Given the description of an element on the screen output the (x, y) to click on. 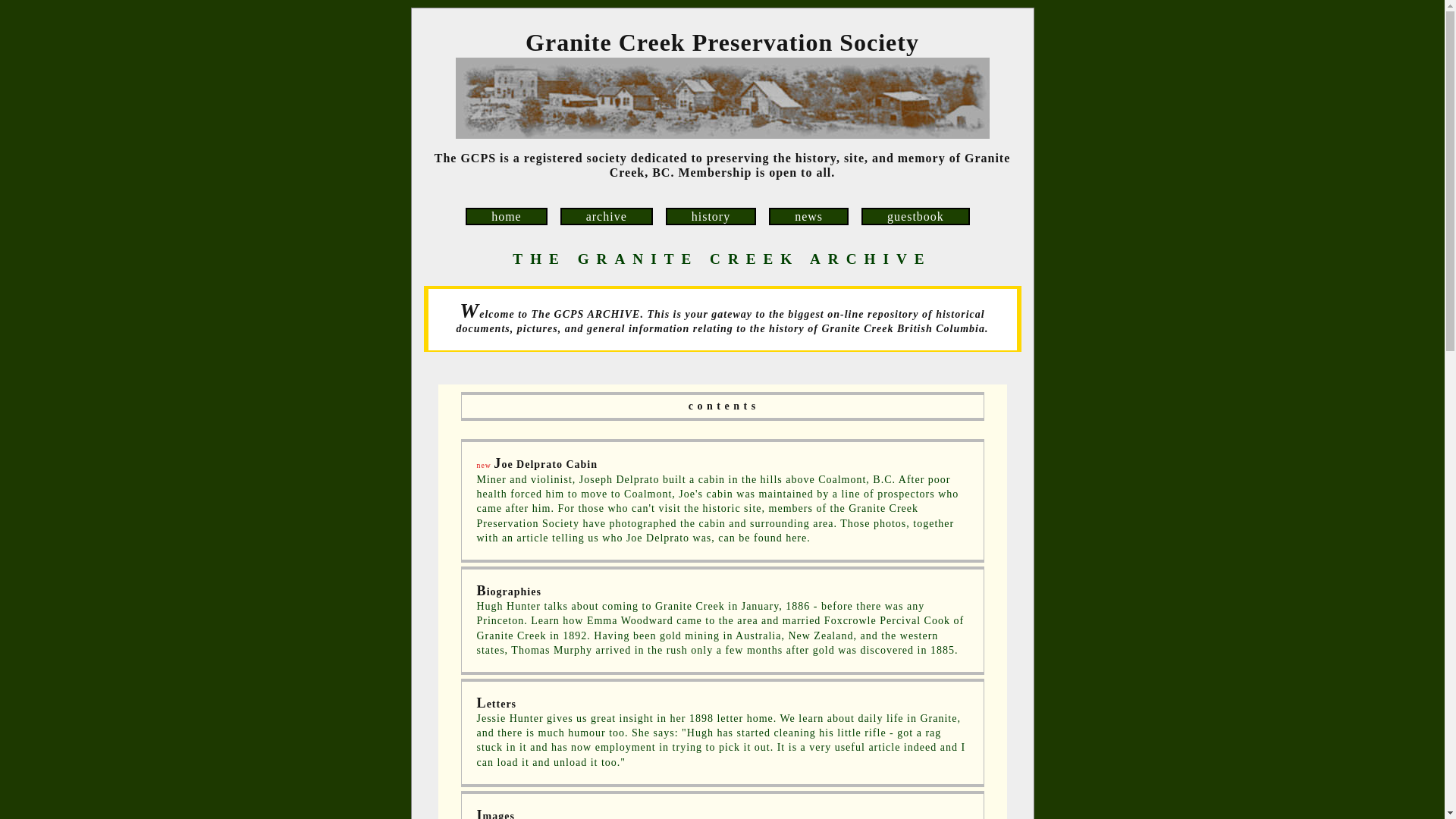
news (808, 216)
history (710, 216)
archive (606, 216)
guestbook (915, 216)
home (506, 216)
Granite Creek British Columbia (721, 97)
